Given the description of an element on the screen output the (x, y) to click on. 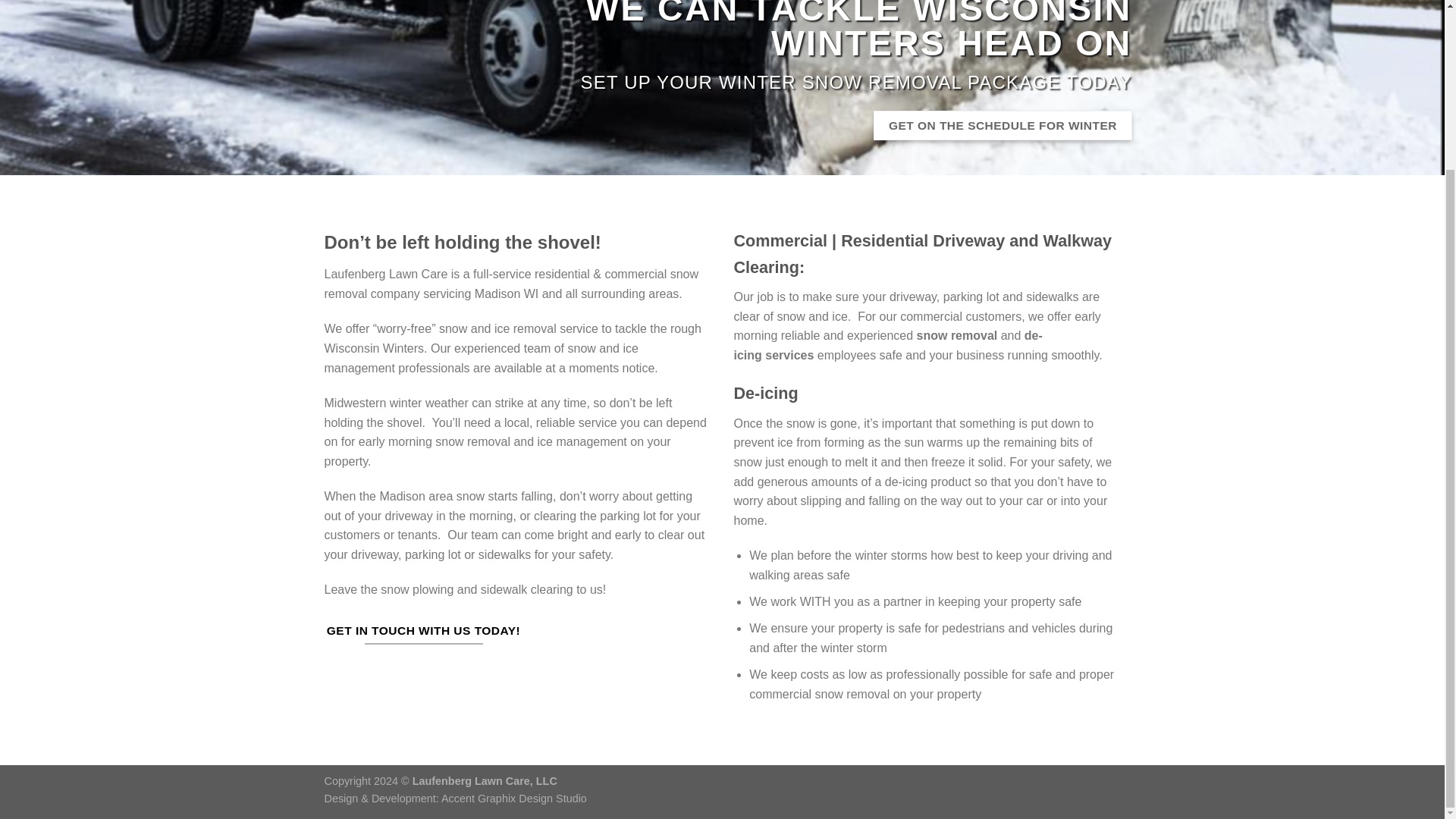
GET ON THE SCHEDULE FOR WINTER (1002, 125)
Accent Graphix Design Studio (513, 798)
GET IN TOUCH WITH US TODAY! (423, 630)
